Given the description of an element on the screen output the (x, y) to click on. 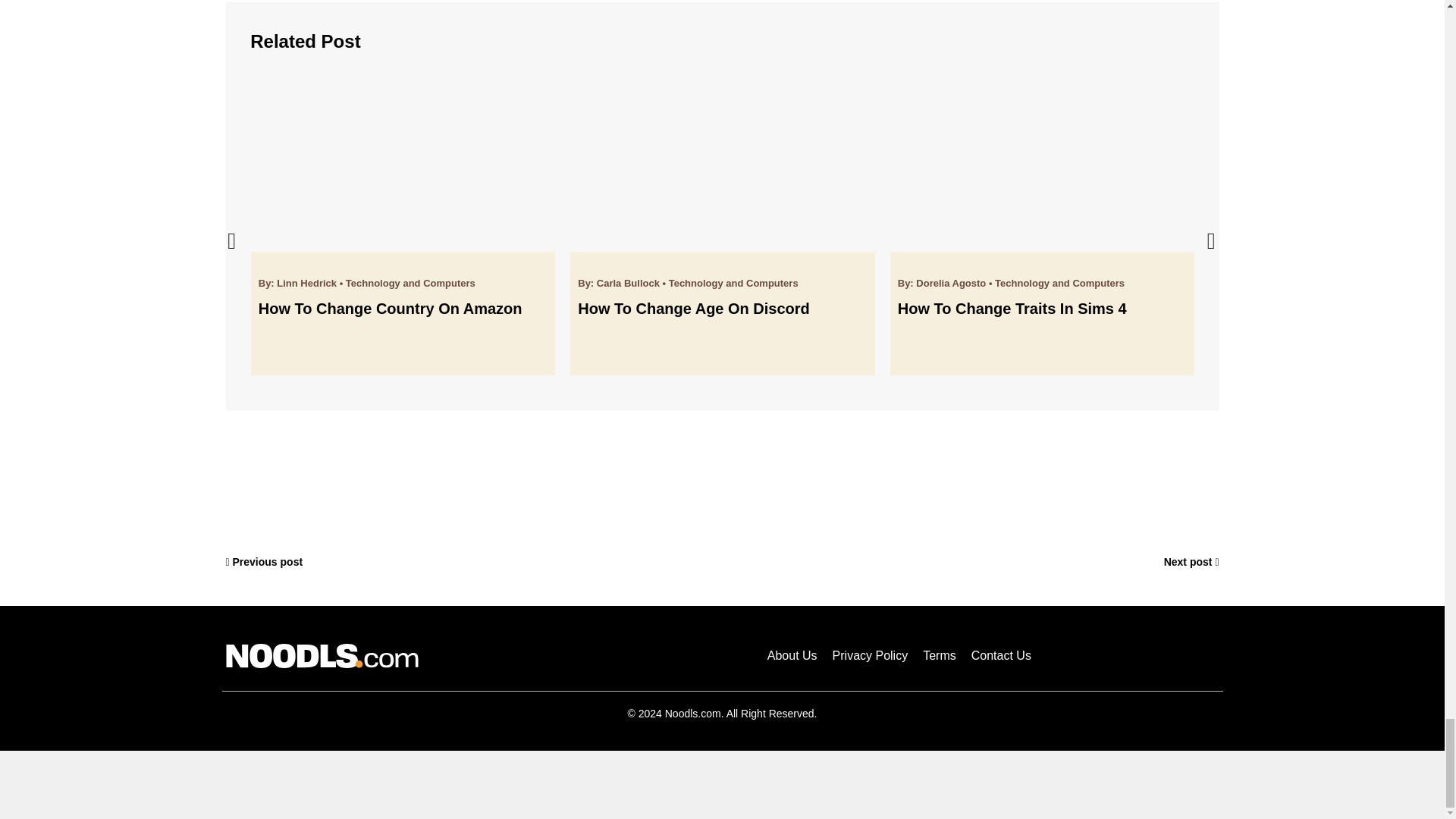
Noodls (322, 655)
